Given the description of an element on the screen output the (x, y) to click on. 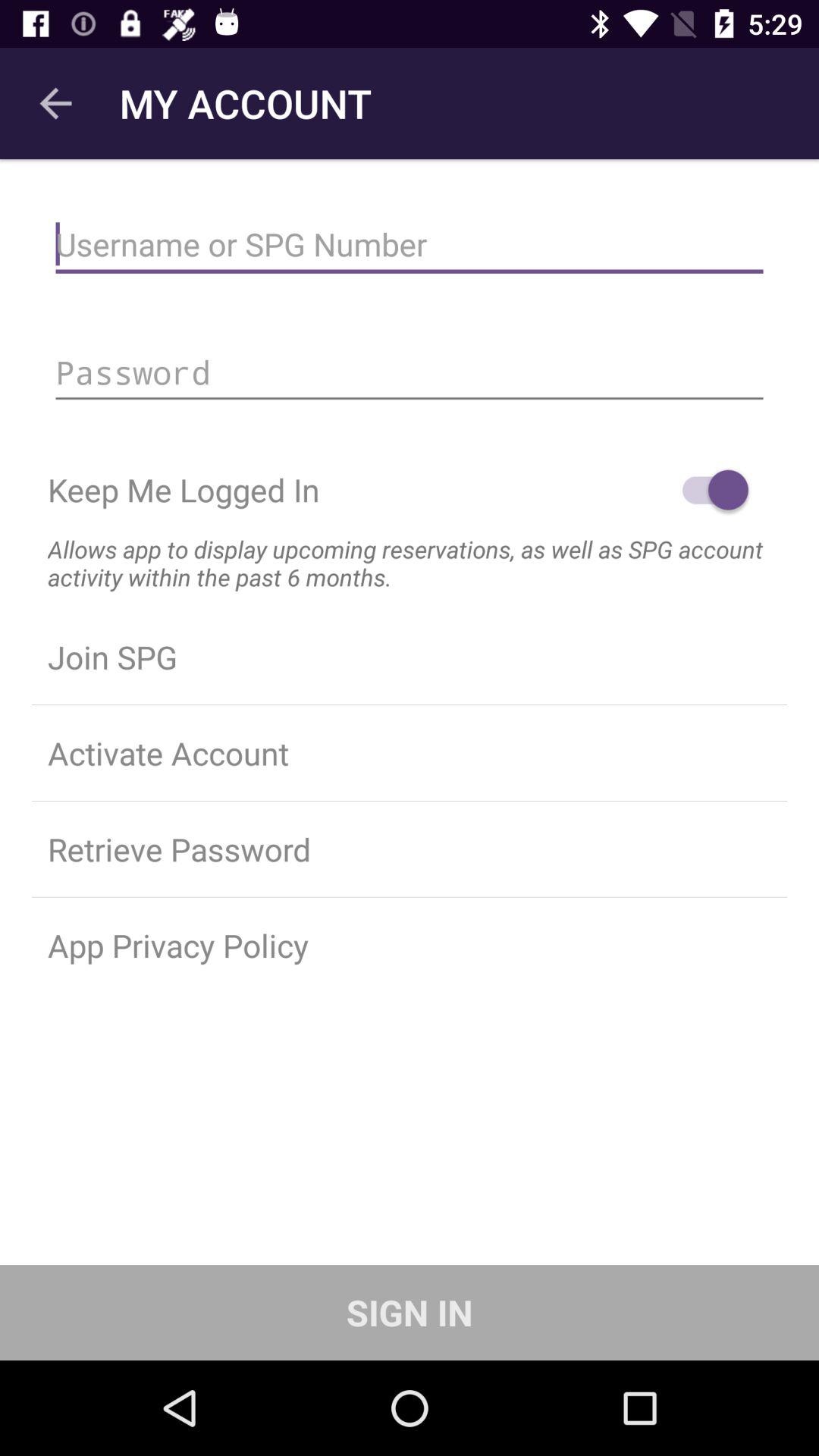
open icon above the allows app to (707, 489)
